Given the description of an element on the screen output the (x, y) to click on. 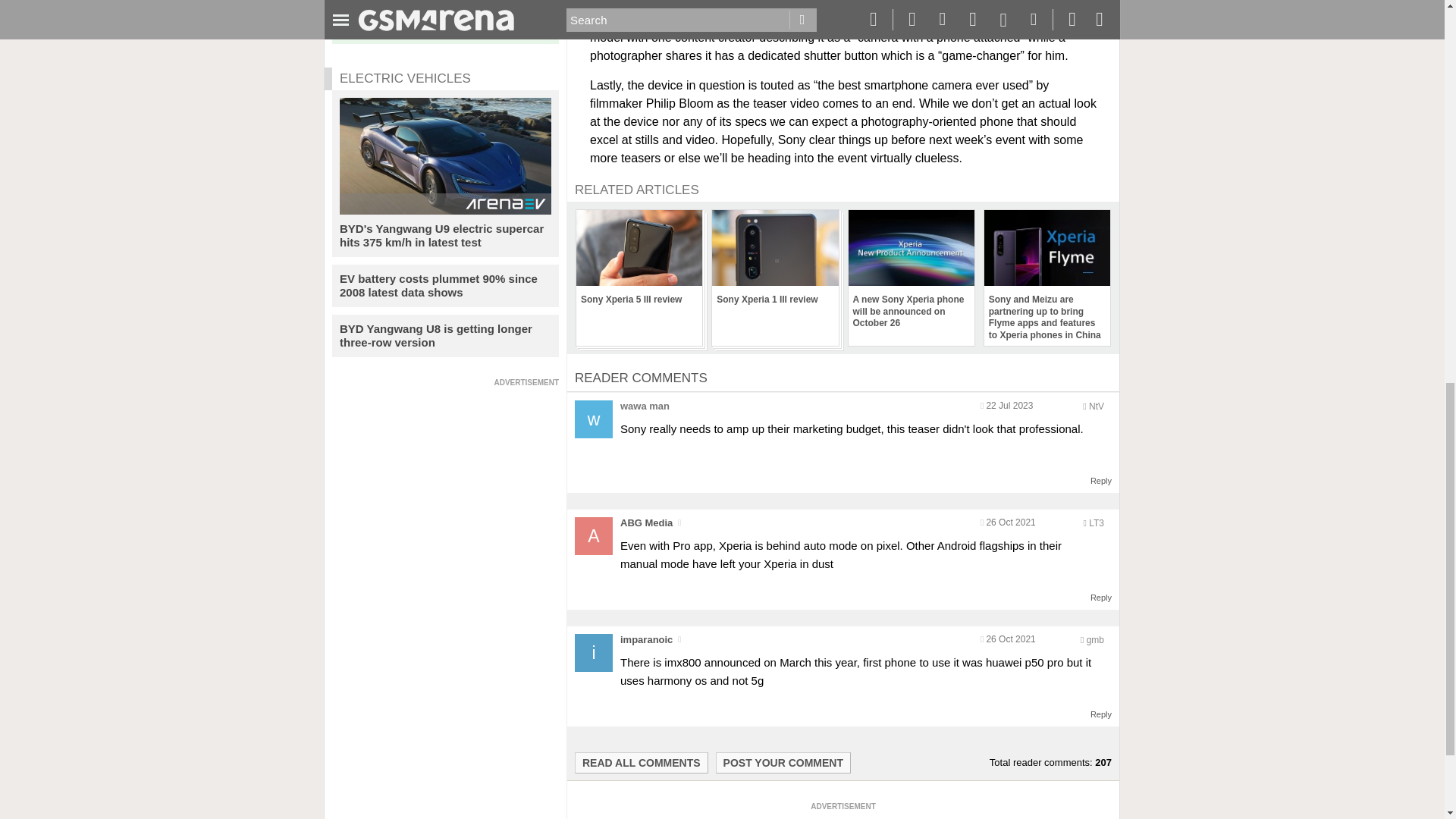
Reply to this post (1101, 596)
Xperia 5 II (682, 19)
Encoded anonymized location (1094, 639)
Xperia 1 III (618, 19)
Encoded anonymized location (1096, 522)
Encoded anonymized location (1096, 406)
Reply to this post (1101, 480)
Reply to this post (1101, 714)
